Given the description of an element on the screen output the (x, y) to click on. 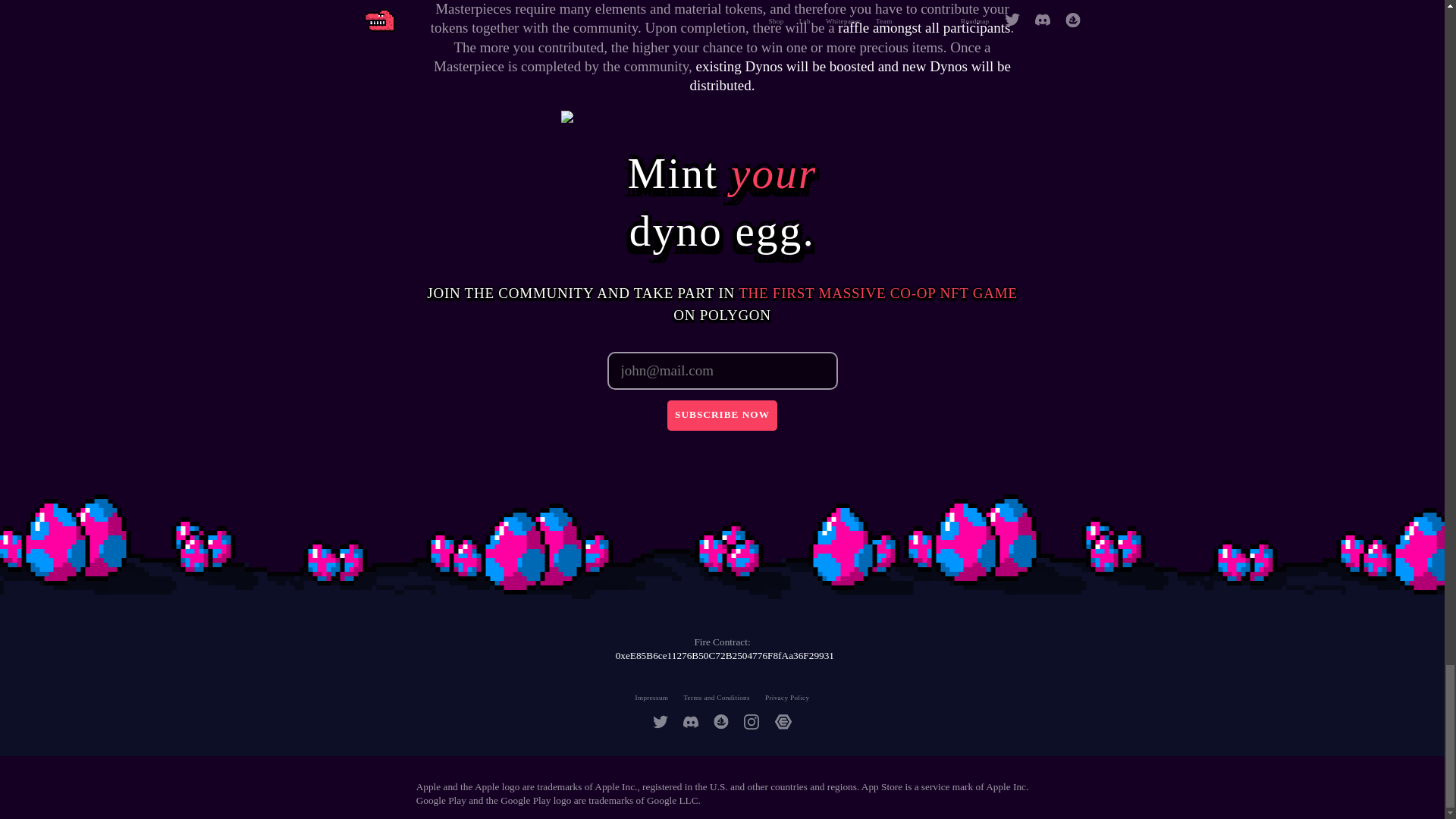
Terms and Conditions (715, 696)
Impressum (651, 696)
Subscribe Now (721, 415)
Privacy Policy (787, 696)
Subscribe Now (721, 415)
